Given the description of an element on the screen output the (x, y) to click on. 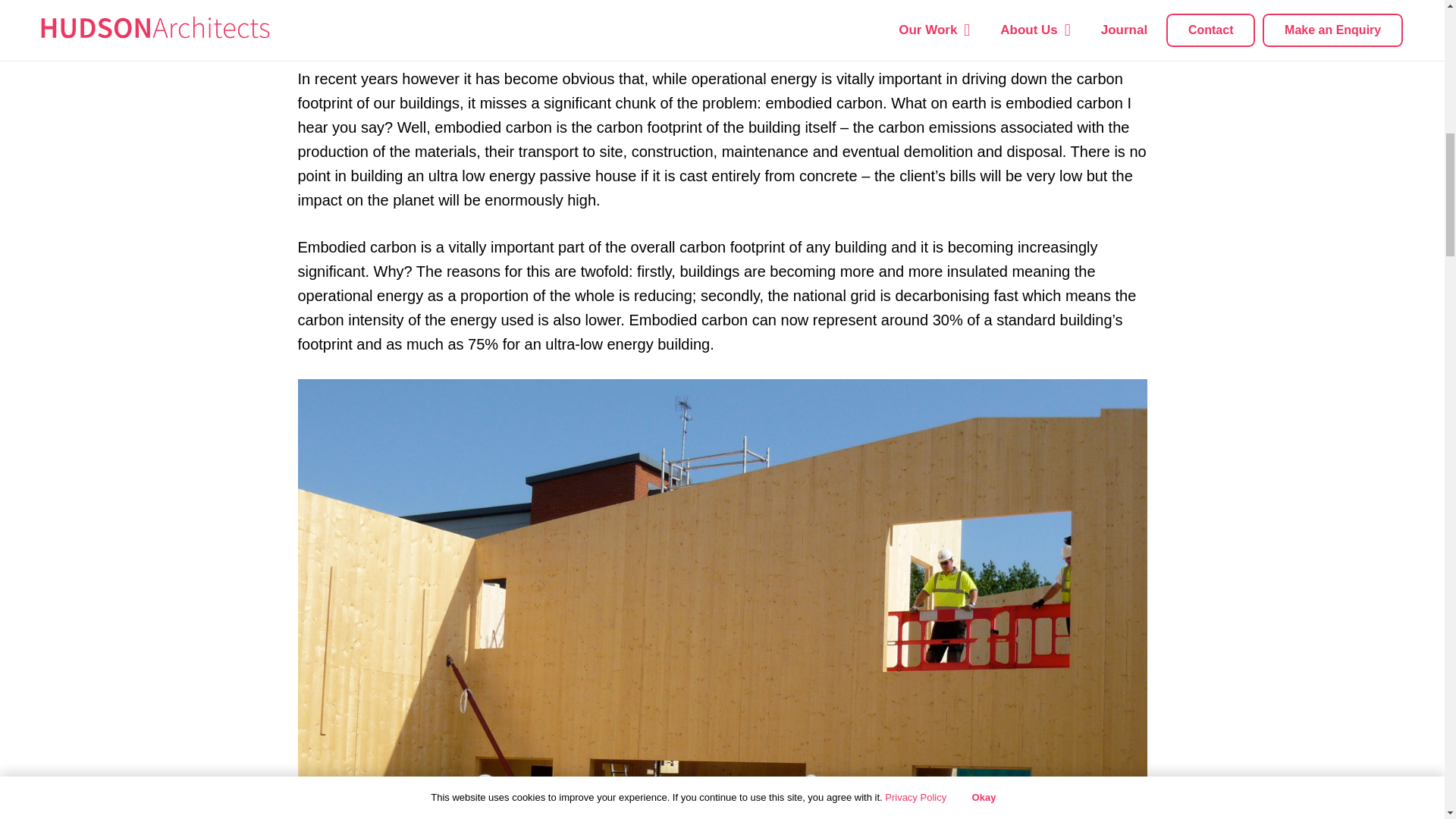
Back to top (1413, 45)
